Given the description of an element on the screen output the (x, y) to click on. 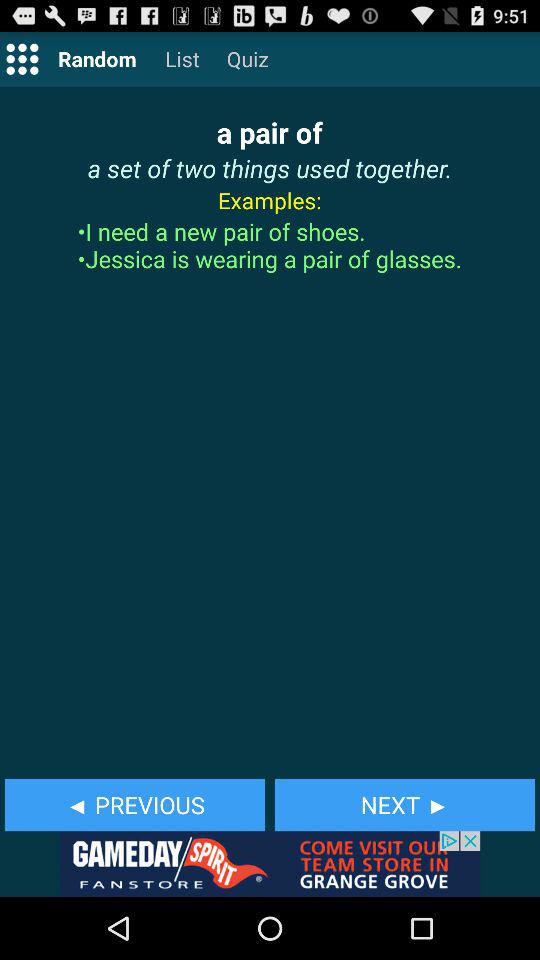
open advertisements (270, 864)
